Given the description of an element on the screen output the (x, y) to click on. 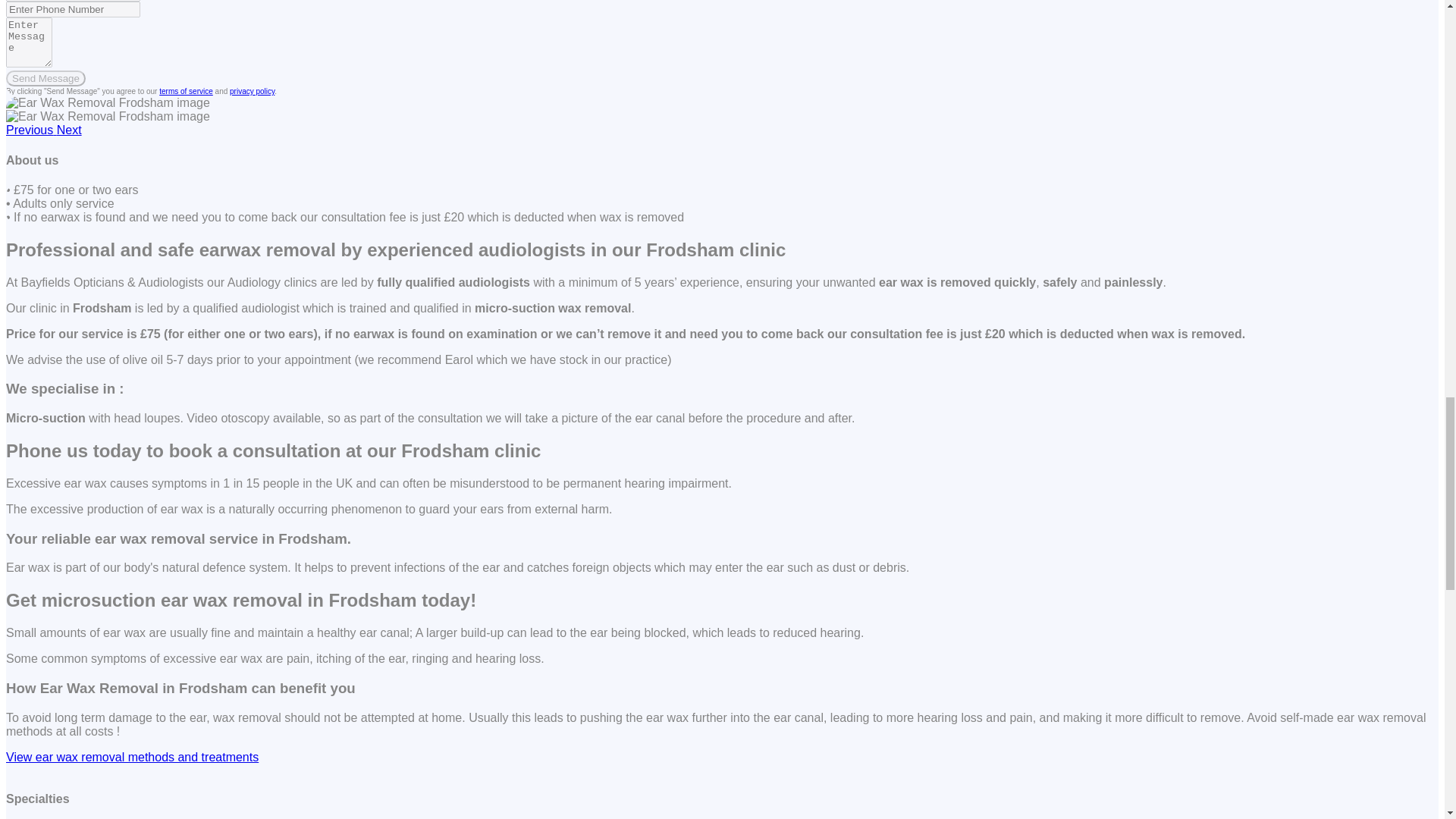
Send Message (45, 78)
Next (68, 129)
View ear wax removal methods and treatments (132, 757)
terms of service (185, 90)
Previous (30, 129)
privacy policy (252, 90)
